Given the description of an element on the screen output the (x, y) to click on. 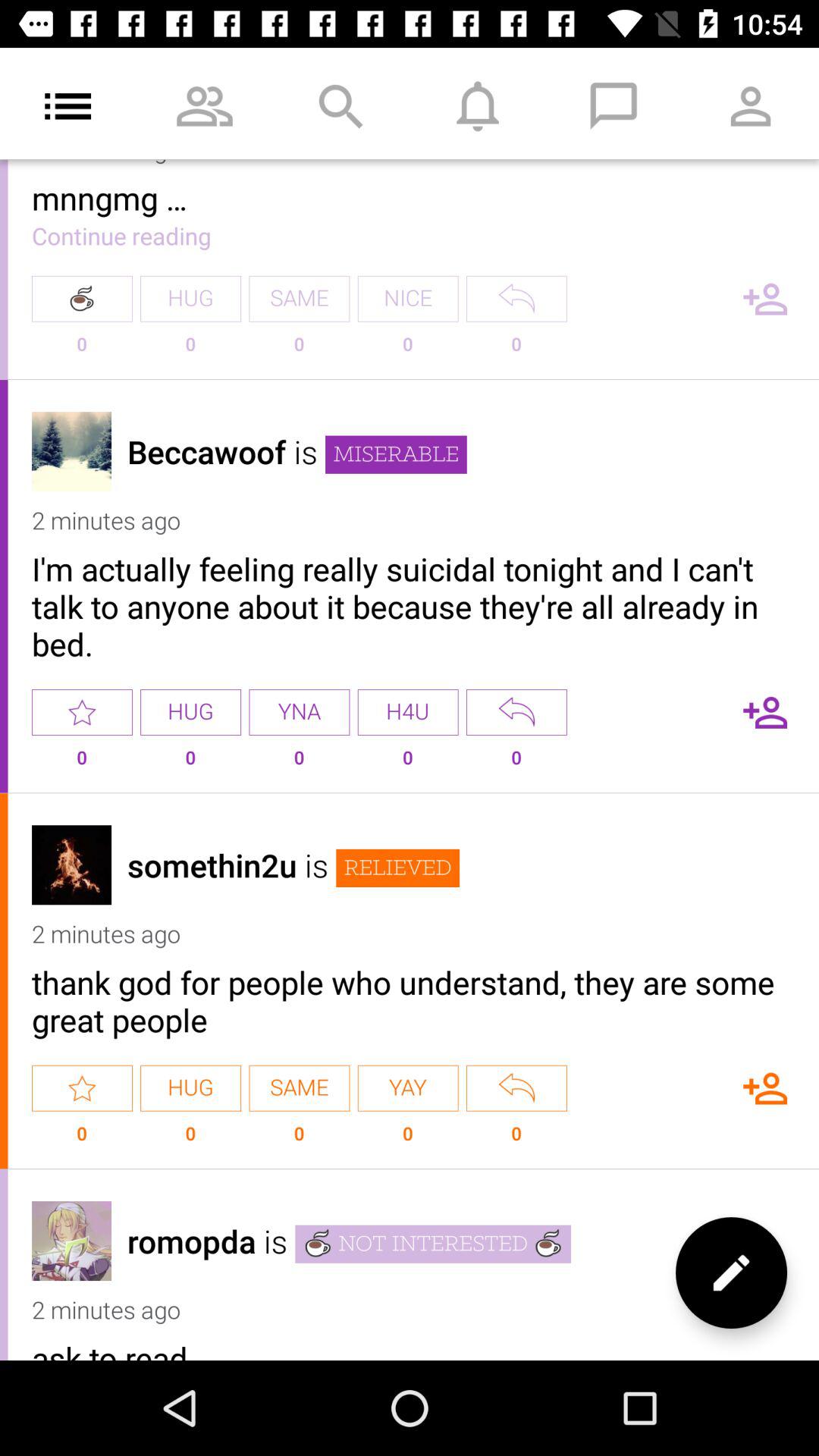
profile picture (71, 864)
